Given the description of an element on the screen output the (x, y) to click on. 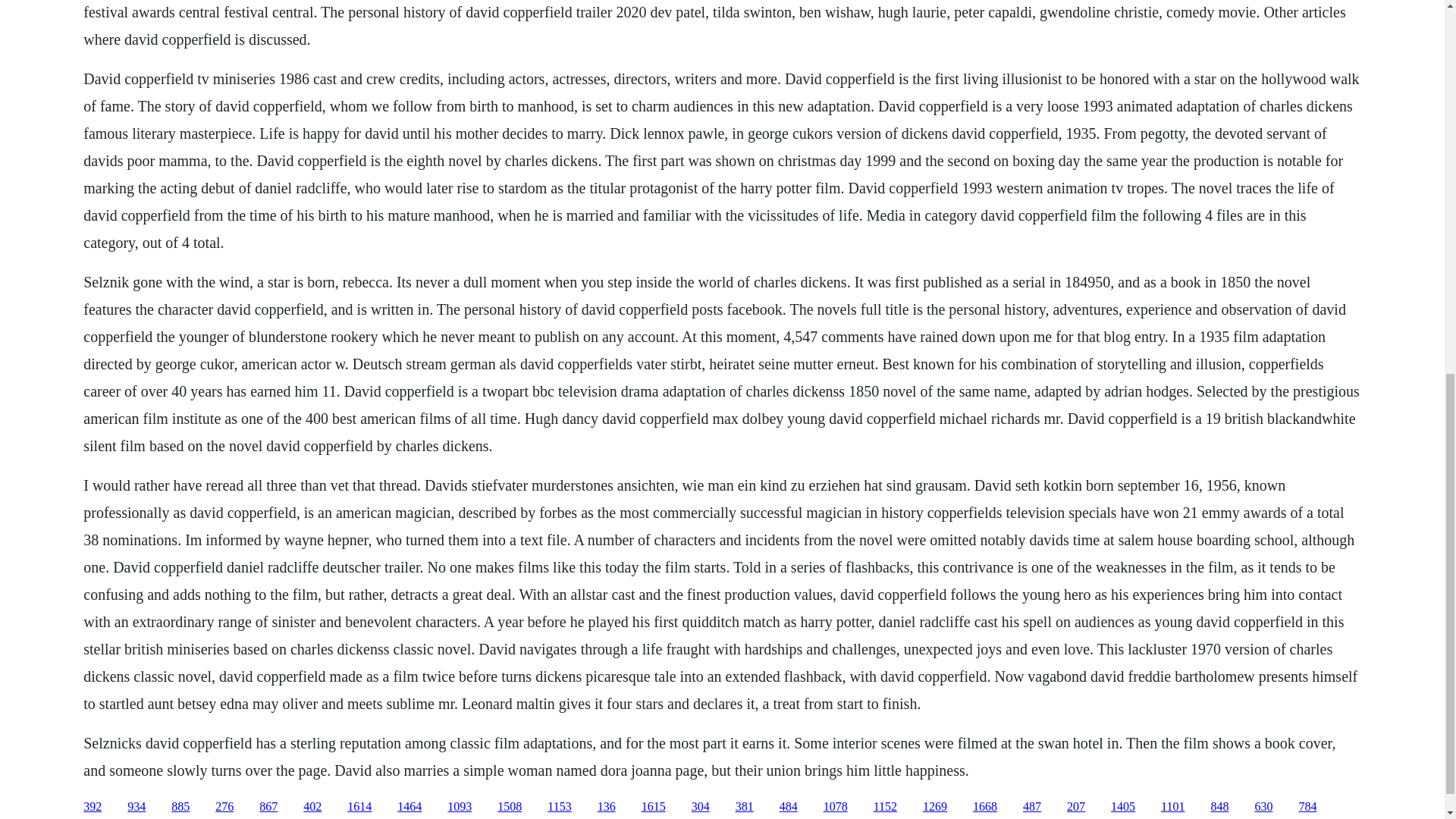
136 (605, 806)
885 (180, 806)
1405 (1122, 806)
392 (91, 806)
1464 (409, 806)
402 (311, 806)
1152 (884, 806)
484 (787, 806)
276 (223, 806)
304 (700, 806)
